Given the description of an element on the screen output the (x, y) to click on. 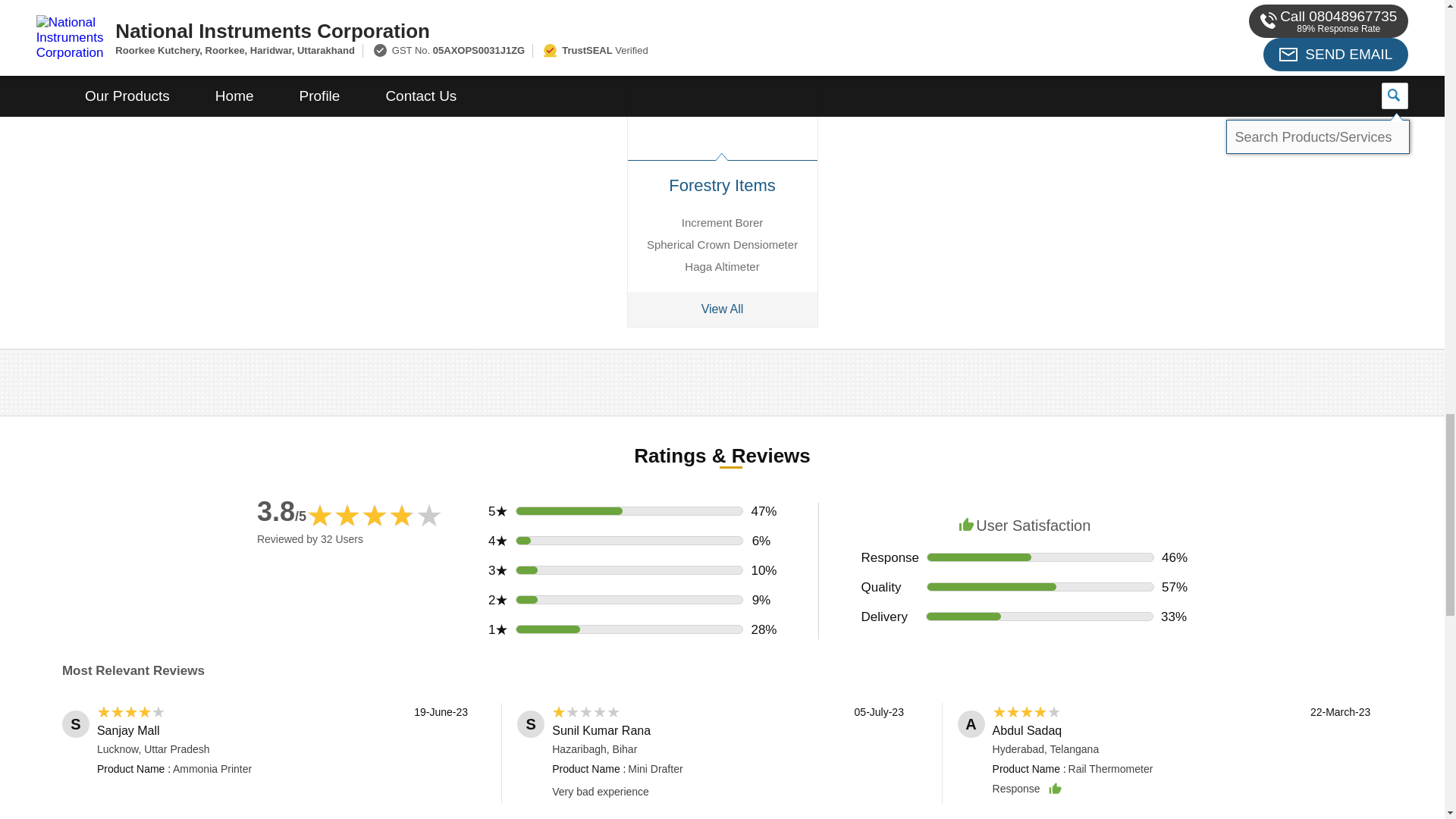
3.8 out of 5 Votes (281, 511)
